Given the description of an element on the screen output the (x, y) to click on. 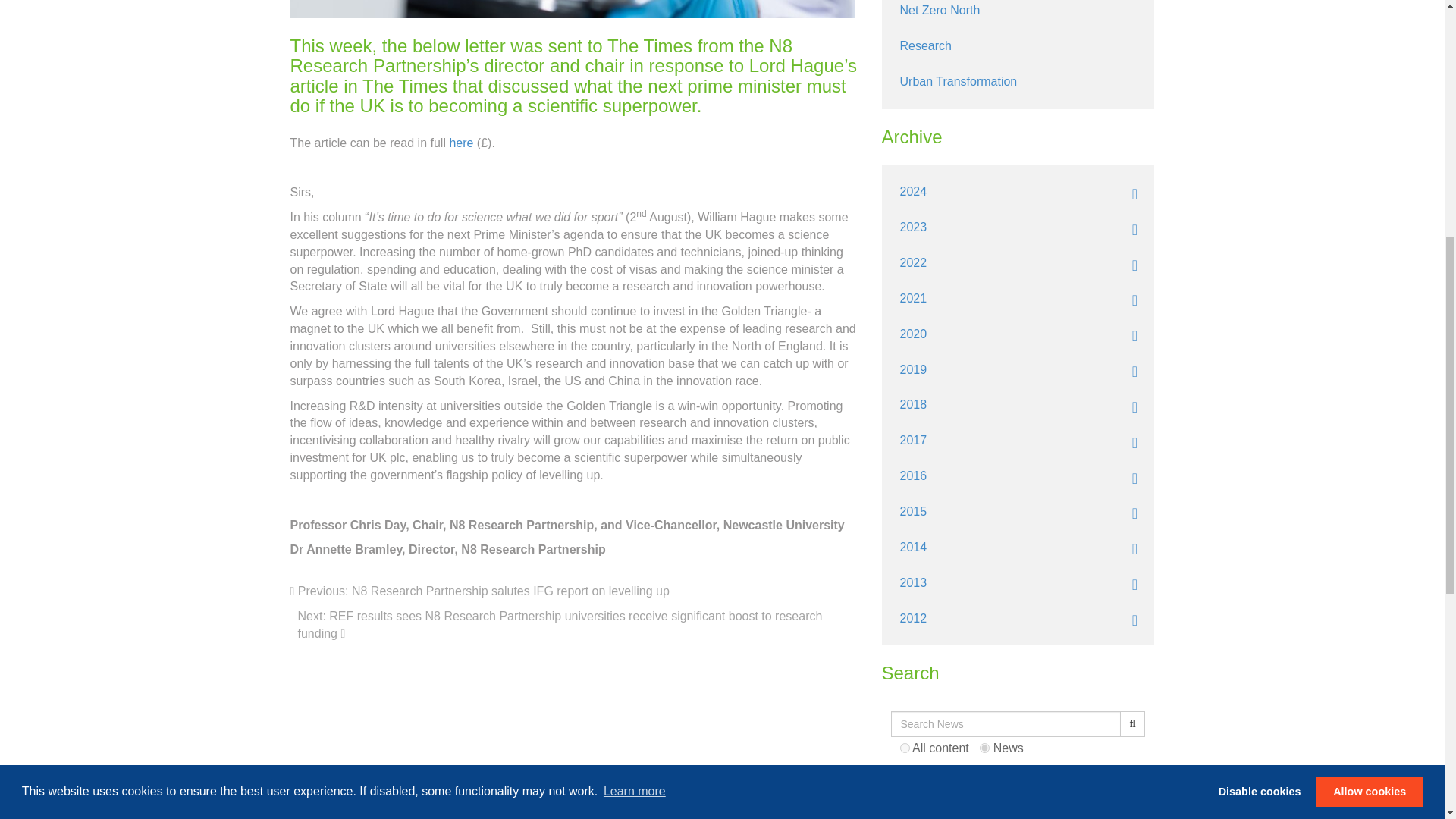
post (984, 747)
Learn more (634, 271)
2024 (1016, 191)
all (903, 747)
2023 (1016, 227)
Allow cookies (1369, 271)
Disable cookies (1259, 271)
